Given the description of an element on the screen output the (x, y) to click on. 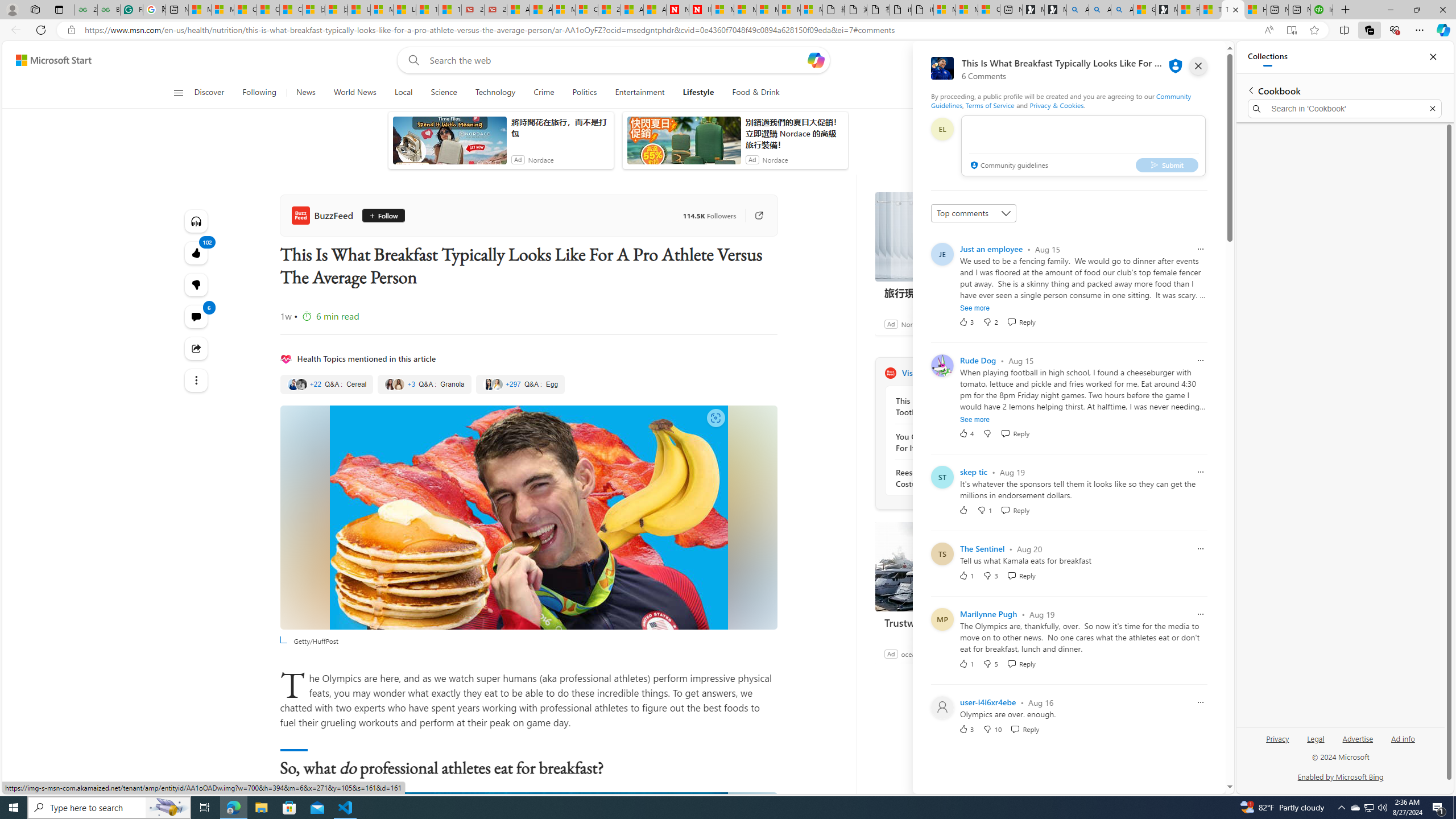
Just an employee (991, 248)
15 Ways Modern Life Contradicts the Teachings of Jesus (449, 9)
Granola (424, 384)
Back to list of collections (1250, 90)
21 Movies That Outdid the Books They Were Based On (495, 9)
4 Like (965, 433)
BuzzFeed (324, 215)
